Given the description of an element on the screen output the (x, y) to click on. 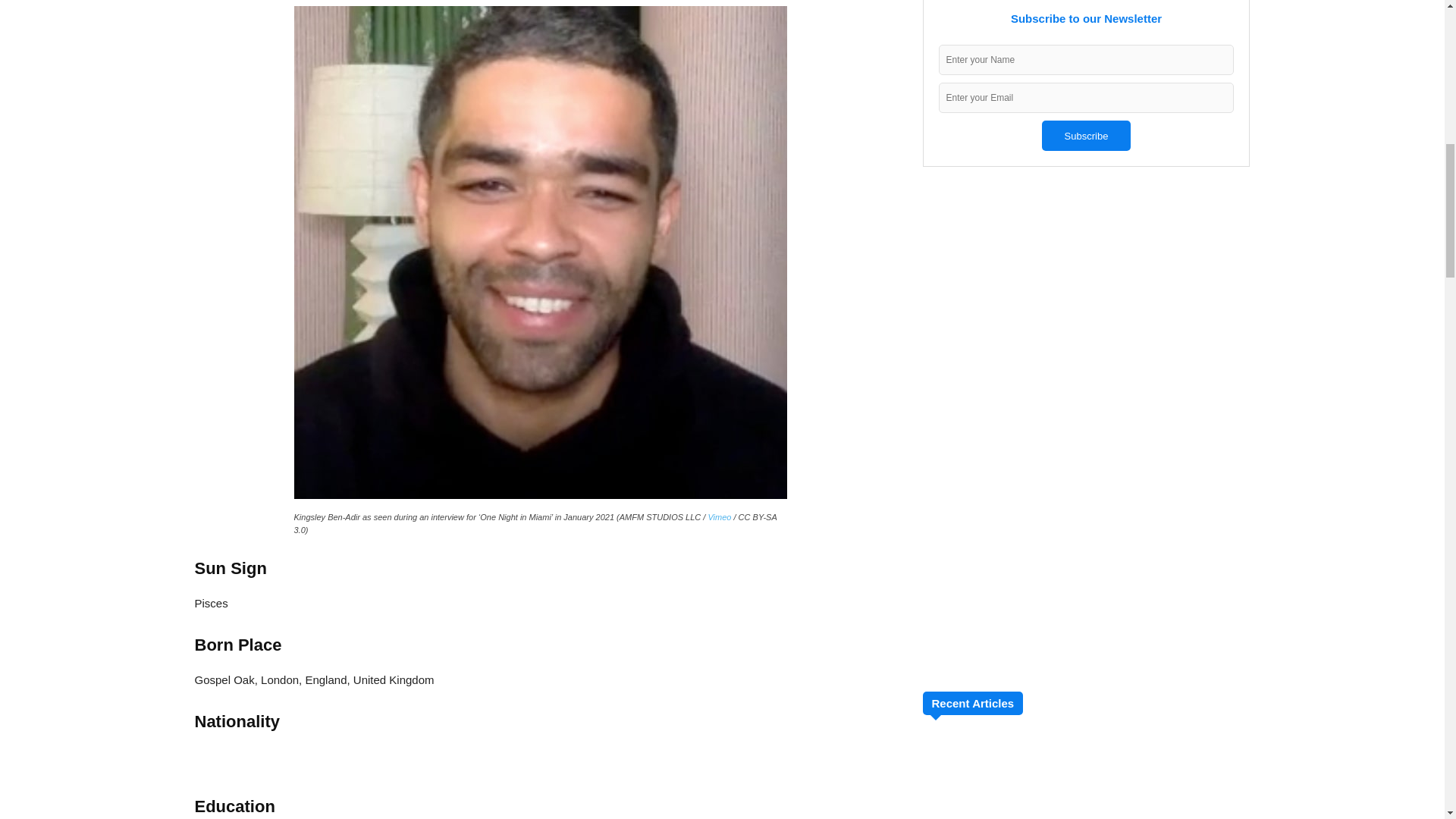
Subscribe (1086, 135)
